Given the description of an element on the screen output the (x, y) to click on. 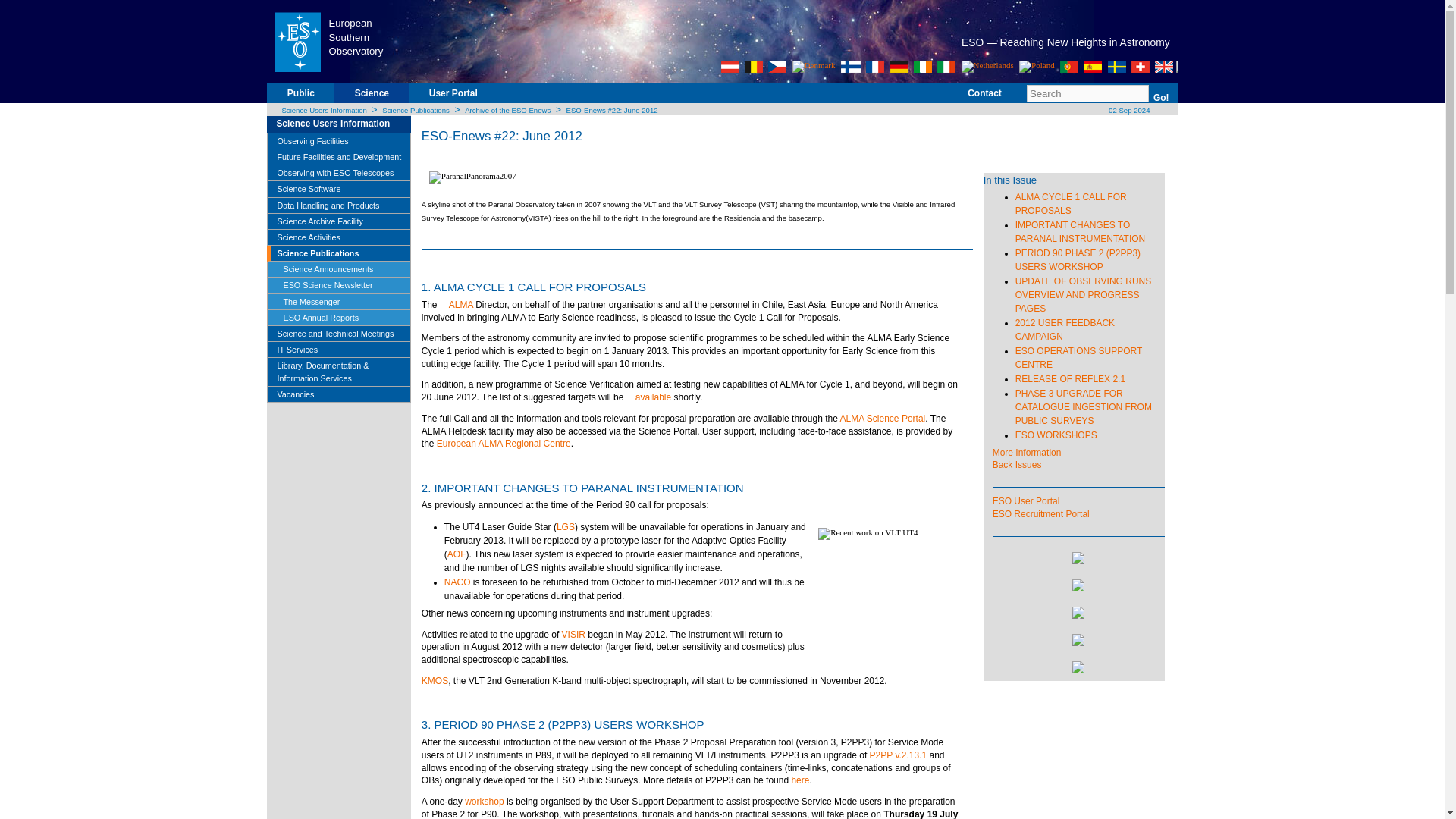
Ireland (922, 66)
Science Users Information (323, 110)
Contact (984, 98)
User Portal (453, 98)
Portugal (1068, 66)
Science Users Information (343, 124)
Finland (850, 66)
Spain (1092, 66)
Science Publications (415, 110)
Denmark (813, 66)
